Given the description of an element on the screen output the (x, y) to click on. 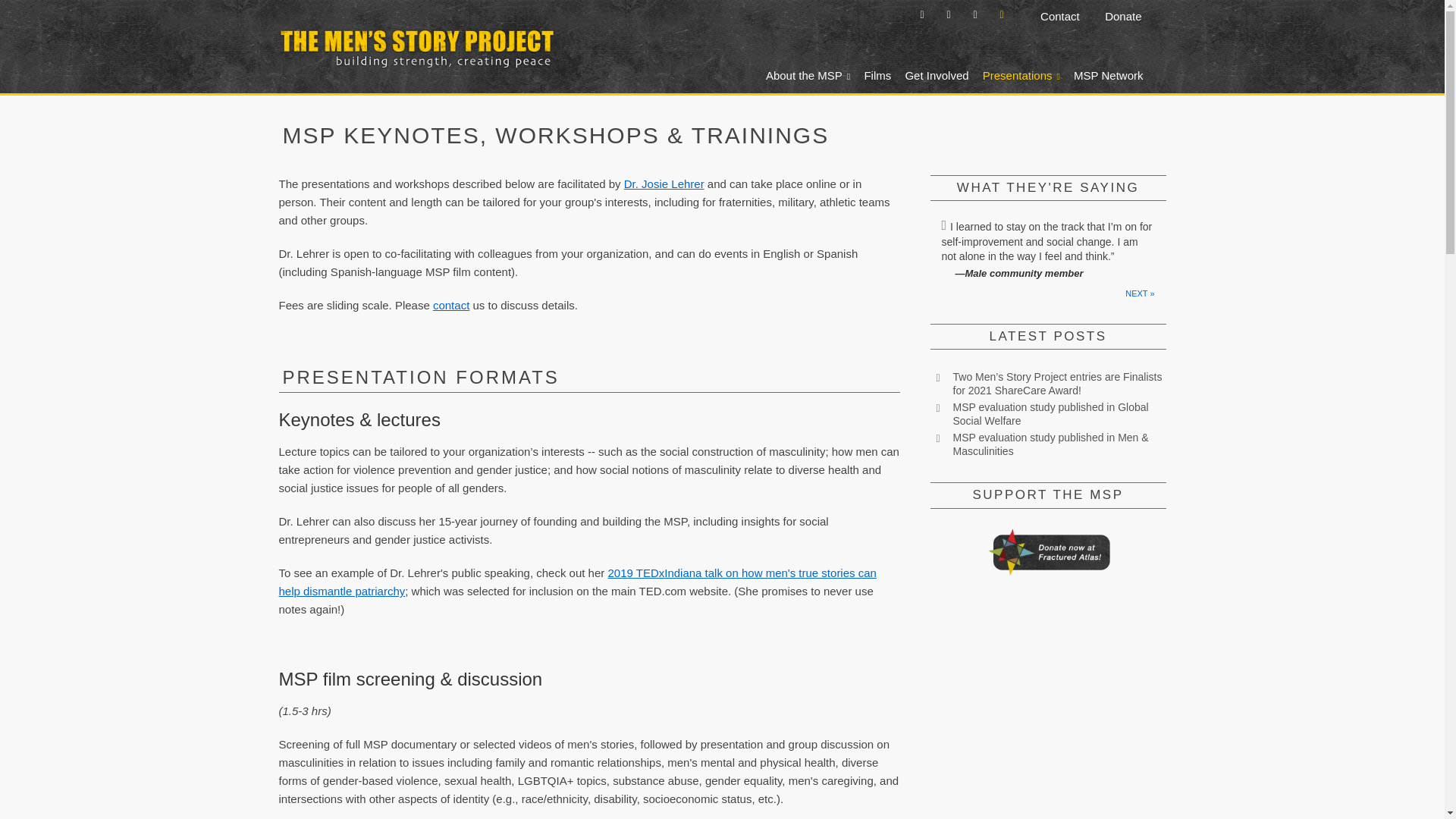
Contact (1062, 15)
MSP evaluation study published in Global Social Welfare (1050, 413)
Dr. Josie Lehrer (664, 183)
Staff and Advisors (664, 183)
Twtter (922, 15)
Films (872, 73)
The Men's Story Project (699, 43)
Presentations (1015, 73)
MSP Network (1102, 73)
About the MSP (802, 73)
